Given the description of an element on the screen output the (x, y) to click on. 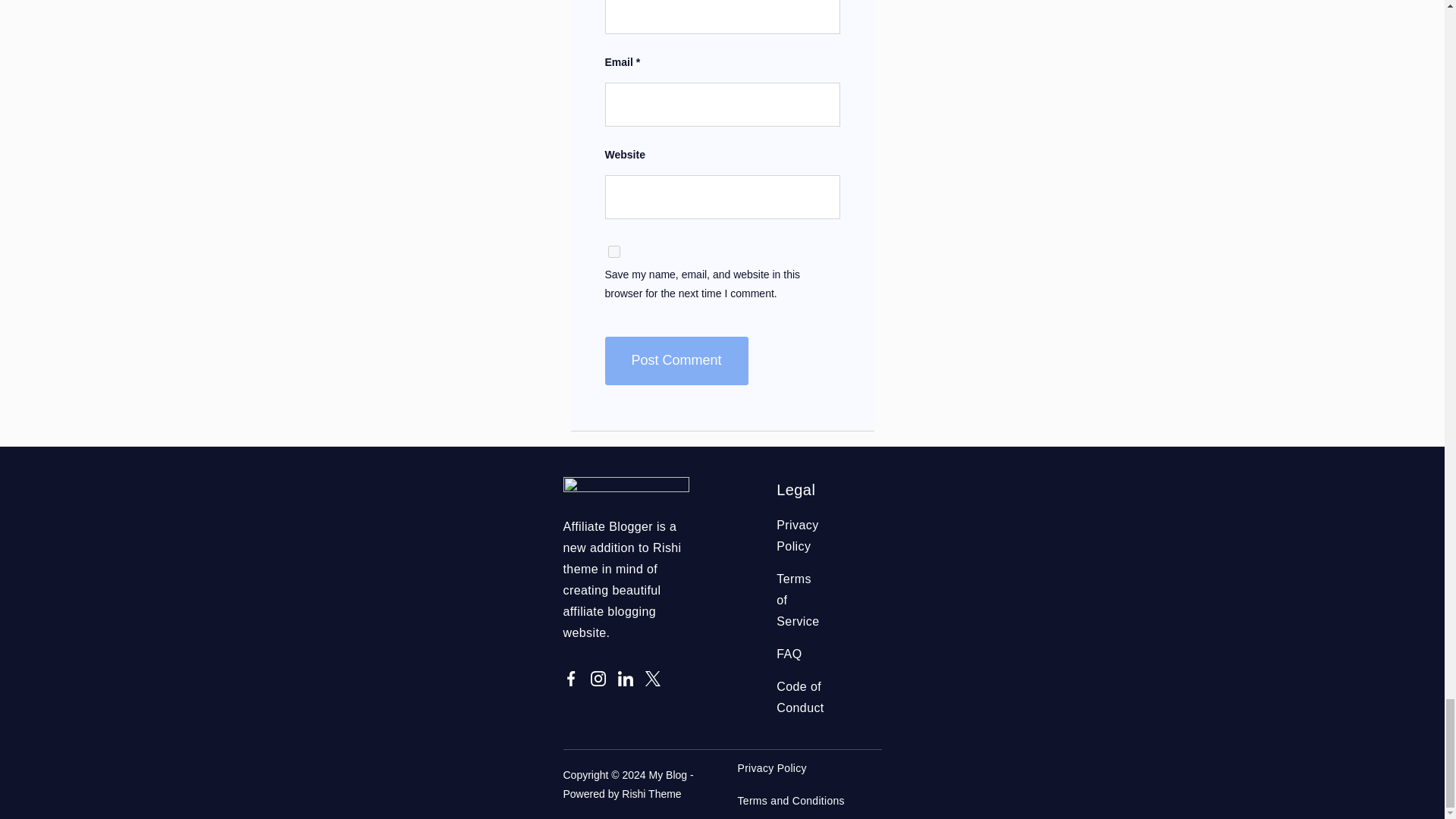
Post Comment (676, 360)
yes (614, 251)
